Given the description of an element on the screen output the (x, y) to click on. 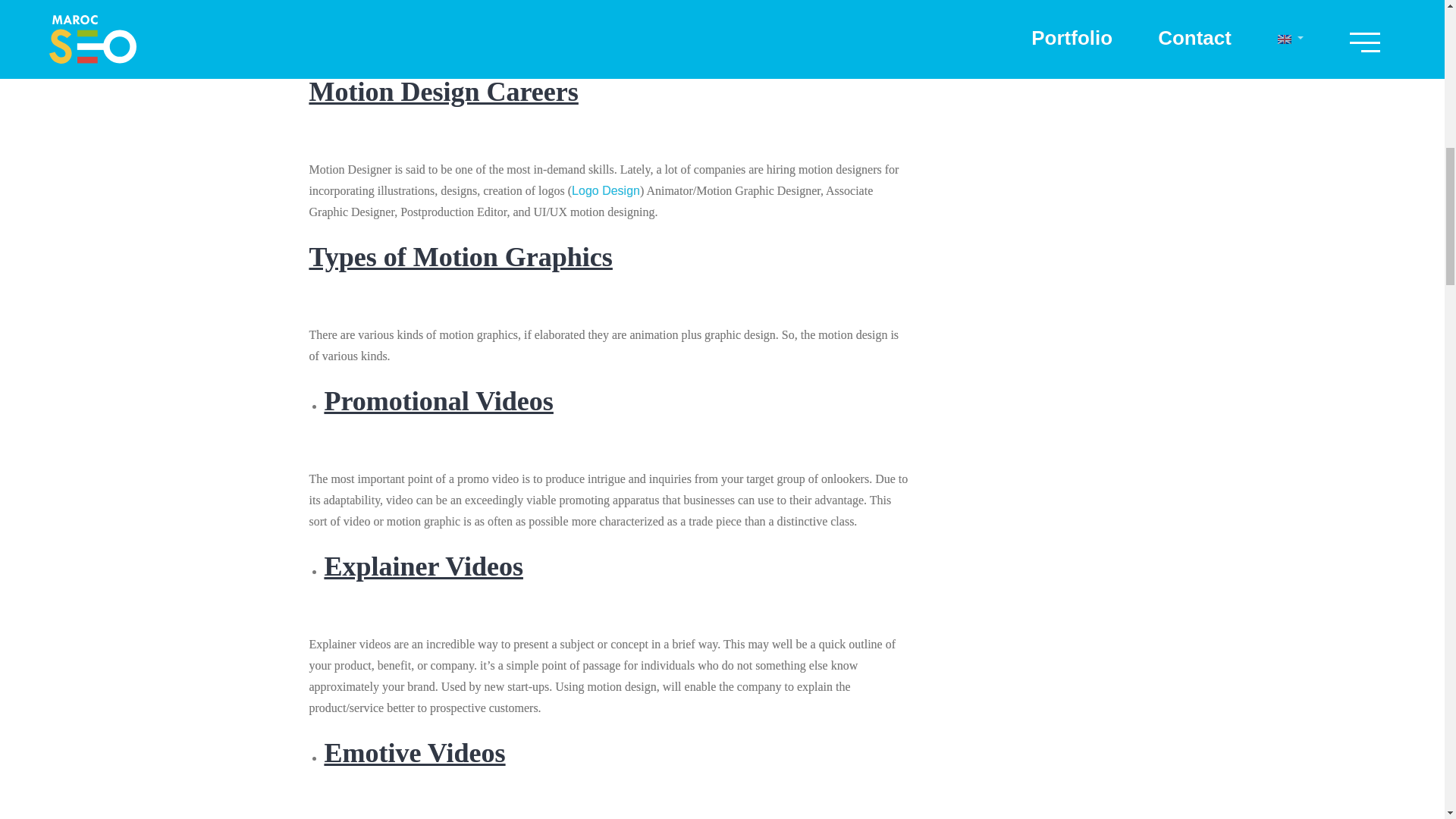
Tailoring Logo Designs for Better Brand Identity in 2022 (606, 190)
